Given the description of an element on the screen output the (x, y) to click on. 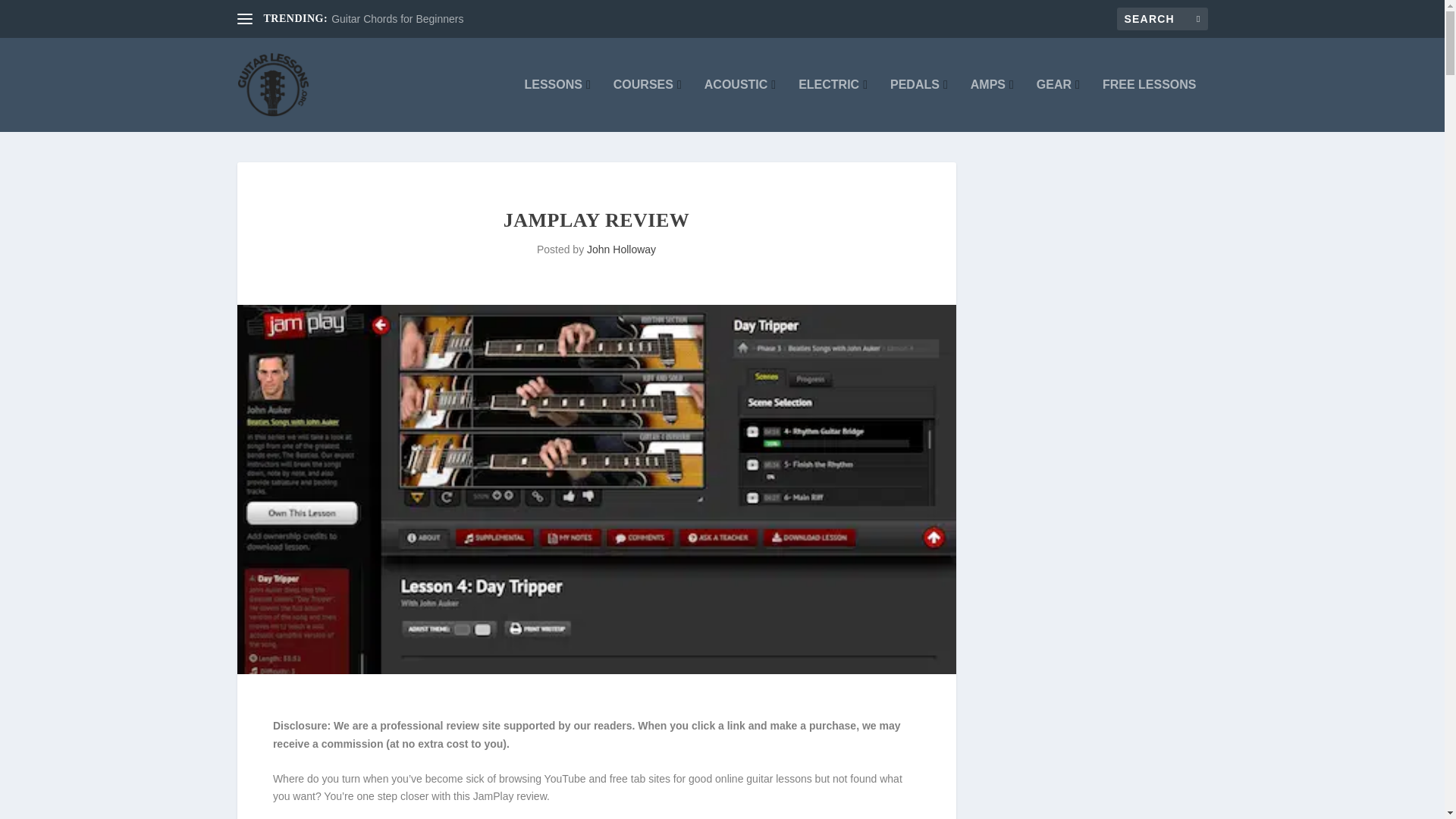
Posts by John Holloway (621, 249)
ELECTRIC (832, 104)
Search for: (1161, 18)
LESSONS (556, 104)
COURSES (646, 104)
Guitar Chords for Beginners (397, 19)
ACOUSTIC (740, 104)
